Given the description of an element on the screen output the (x, y) to click on. 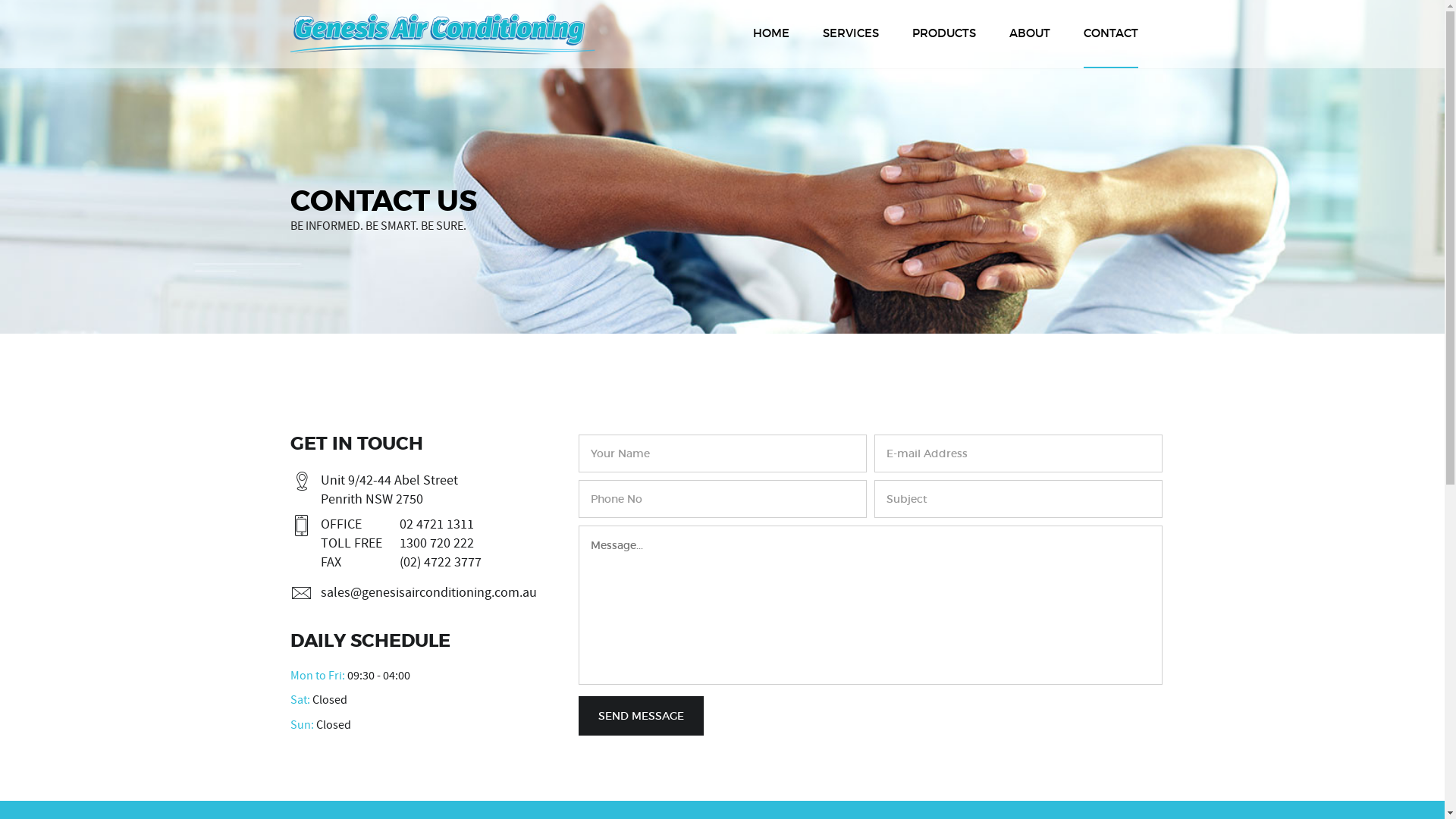
HOME Element type: text (770, 34)
PRODUCTS Element type: text (943, 34)
CONTACT Element type: text (1109, 34)
ABOUT Element type: text (1028, 34)
SEND MESSAGE Element type: text (639, 715)
sales@genesisairconditioning.com.au Element type: text (428, 592)
SERVICES Element type: text (850, 33)
